Given the description of an element on the screen output the (x, y) to click on. 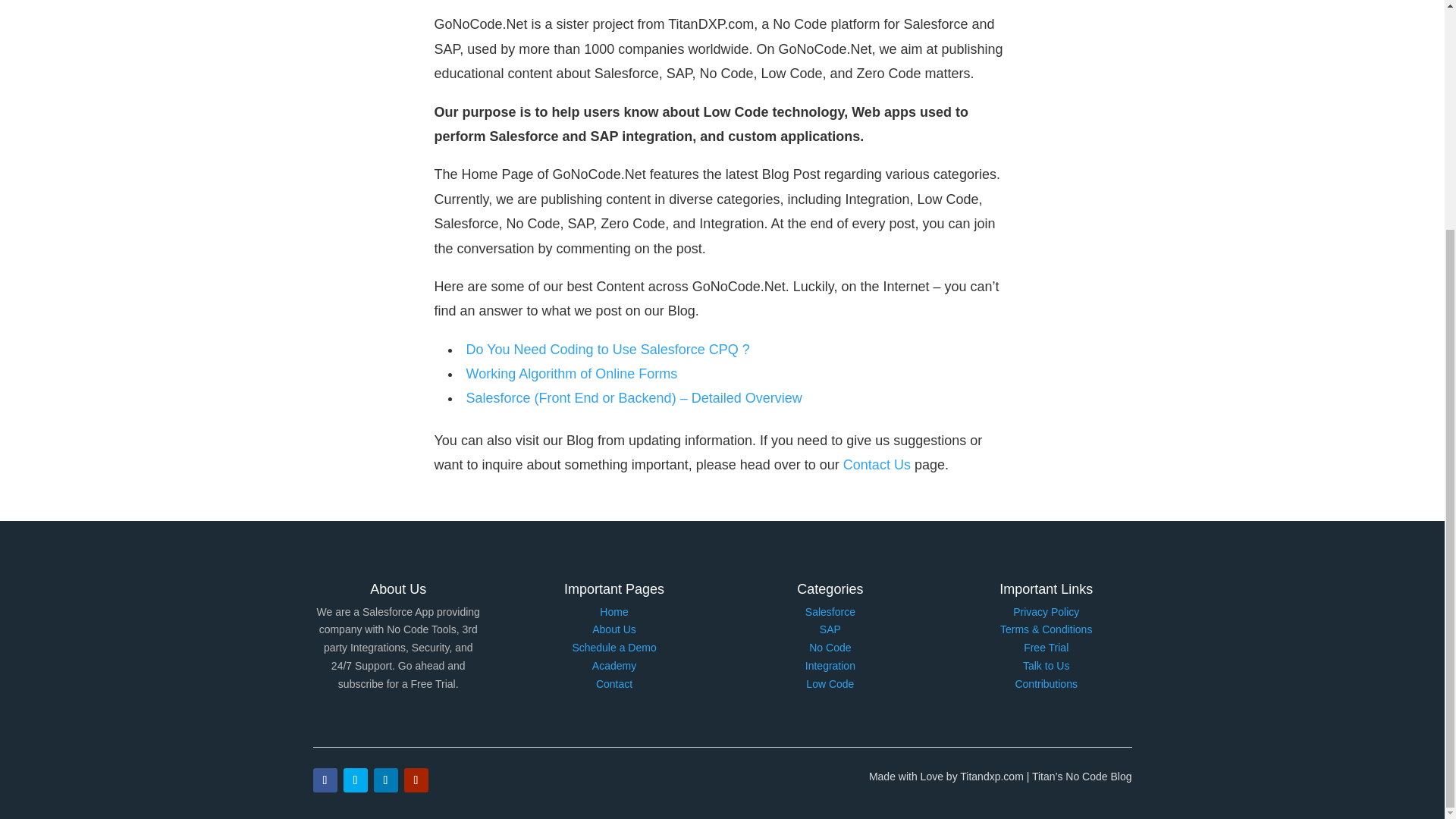
Contact Us (877, 464)
Free Trial (1045, 647)
Talk to Us (1045, 665)
Low Code (829, 684)
About Us (614, 629)
Working Algorithm of Online Forms (571, 373)
Academy (614, 665)
Follow on Facebook (324, 780)
Follow on Twitter (354, 780)
No Code (829, 647)
Follow on LinkedIn (384, 780)
Integration (830, 665)
SAP (830, 629)
Salesforce (830, 612)
Contributions (1045, 684)
